Given the description of an element on the screen output the (x, y) to click on. 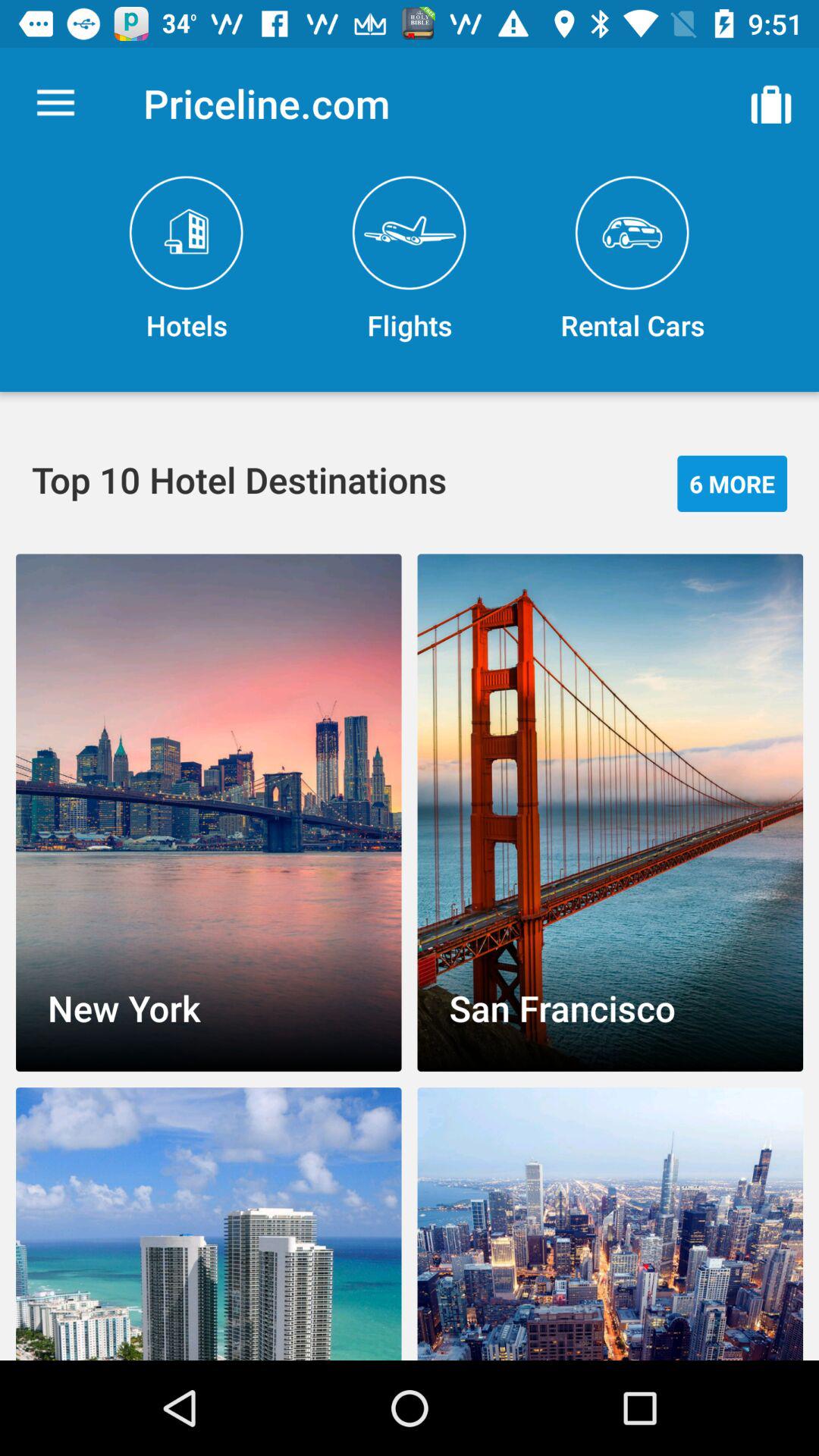
select the icon below the rental cars item (732, 483)
